Given the description of an element on the screen output the (x, y) to click on. 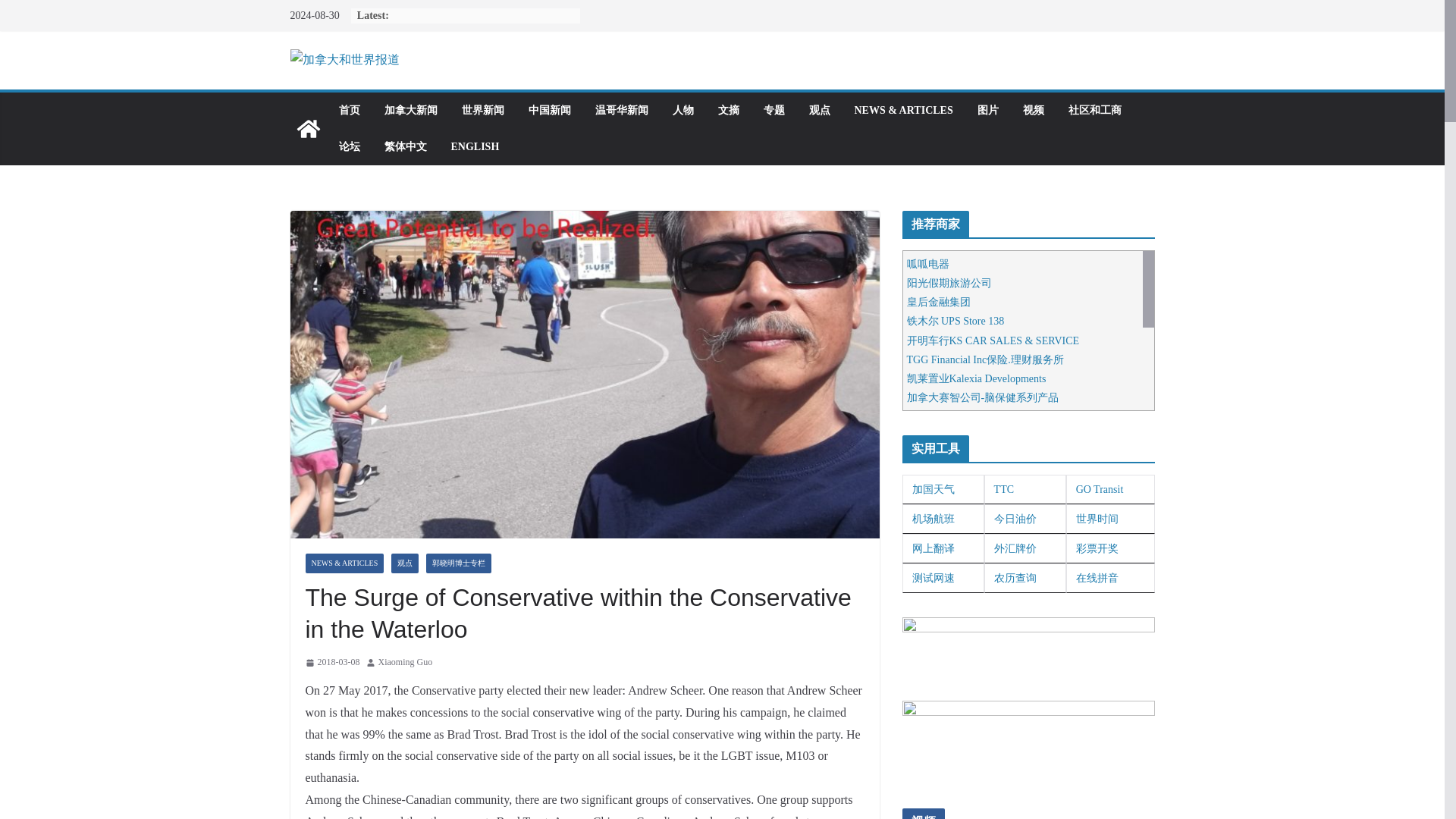
Xiaoming Guo (404, 662)
2018-03-08 (331, 662)
ENGLISH (474, 147)
Xiaoming Guo (404, 662)
19:13 (331, 662)
